Given the description of an element on the screen output the (x, y) to click on. 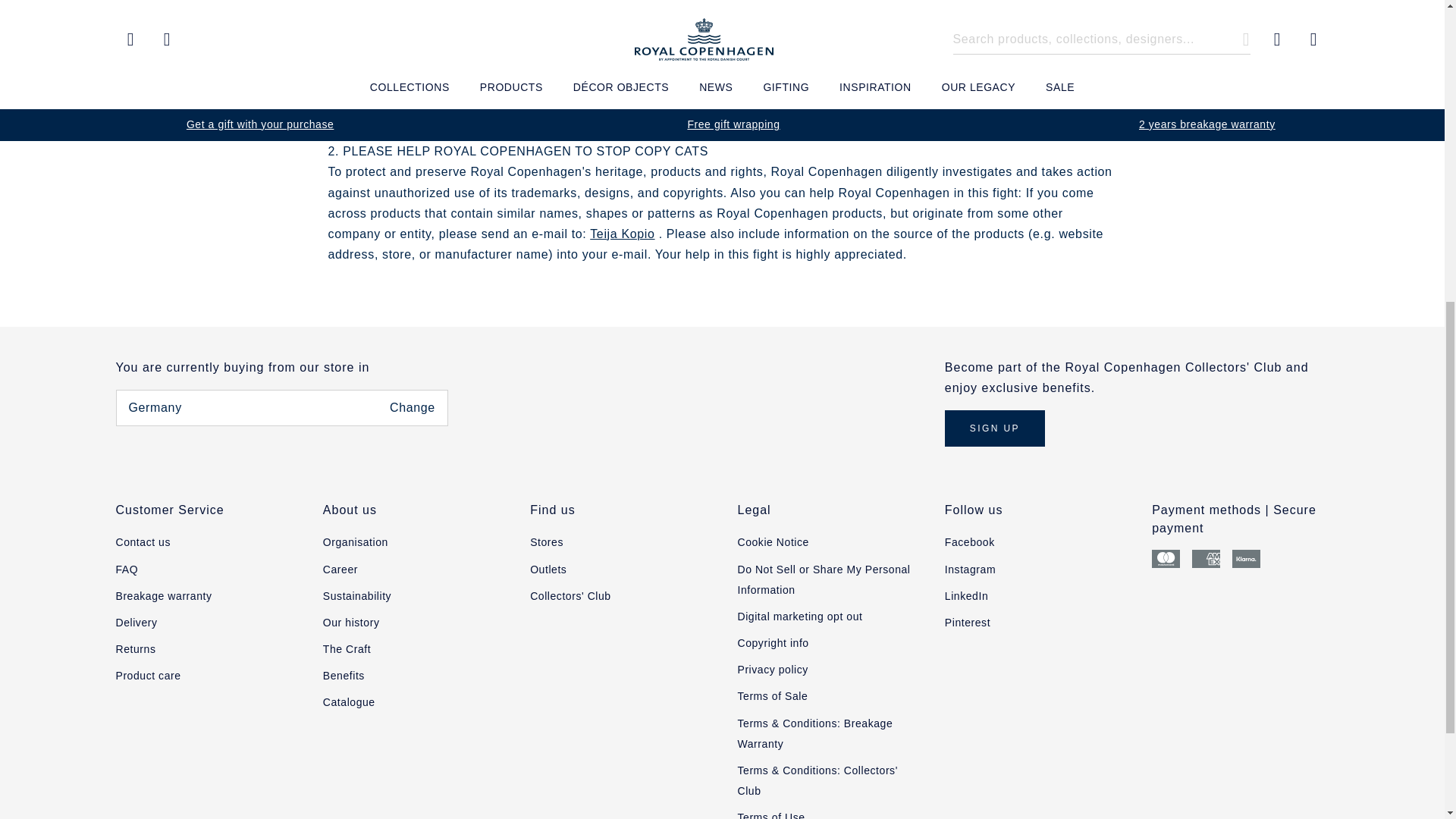
Amex (1206, 558)
Amex (1206, 558)
Klarna (1245, 558)
Click here and read our Privacy policies (772, 669)
Klarna (1245, 558)
Terms and Conditions (772, 695)
MasterCard (1165, 558)
Mastercard (1165, 558)
